Given the description of an element on the screen output the (x, y) to click on. 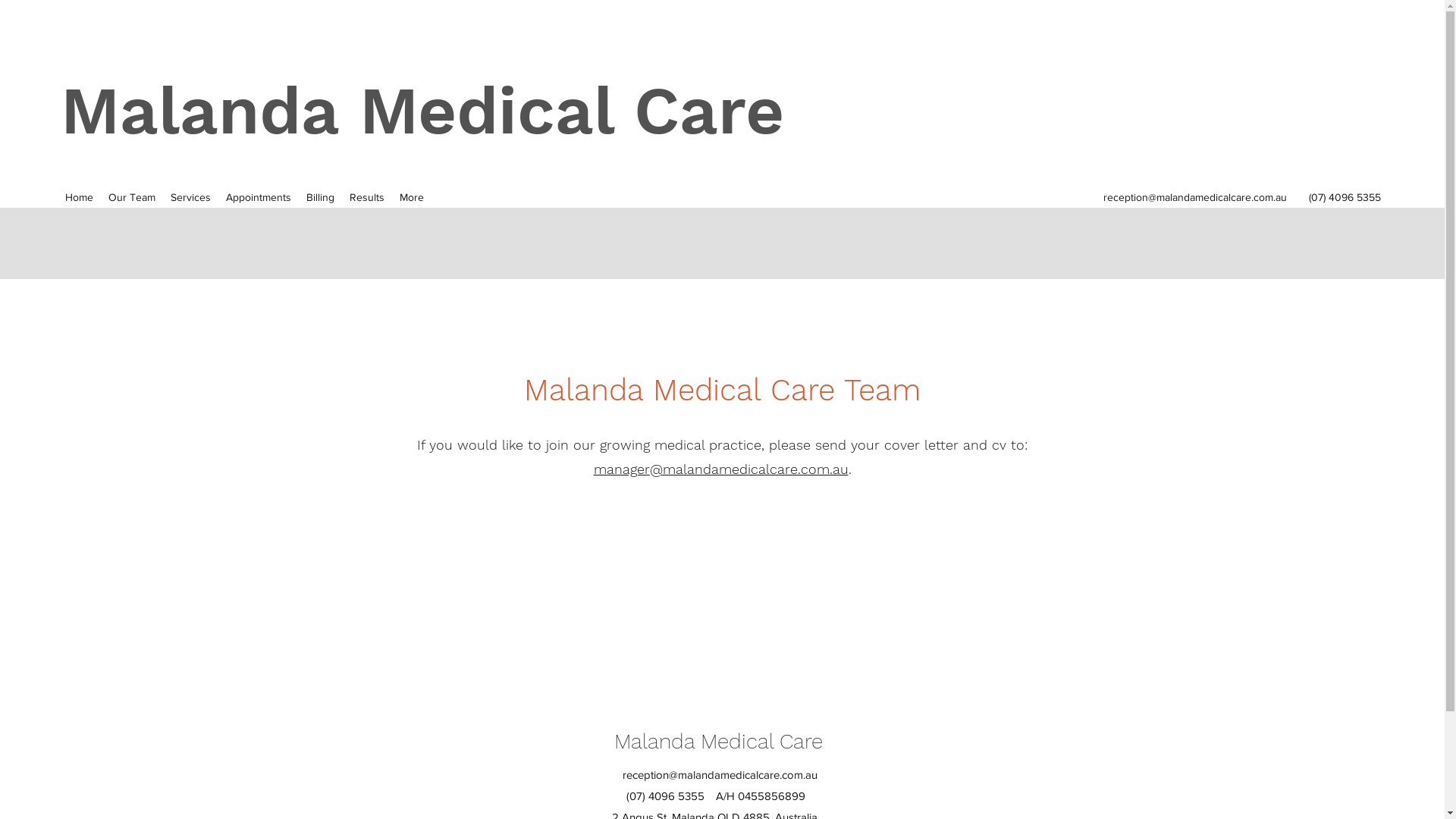
@malandamedicalcare.com.au Element type: text (748, 468)
Billing Element type: text (320, 196)
reception@malandamedicalcare.com.au Element type: text (1194, 197)
Our Team Element type: text (131, 196)
Malanda Medical Care Element type: text (422, 110)
Results Element type: text (367, 196)
Home Element type: text (78, 196)
Malanda Medical Care Element type: text (718, 740)
Appointments Element type: text (258, 196)
Services Element type: text (190, 196)
reception@malandamedicalcare.com.au Element type: text (719, 773)
